Given the description of an element on the screen output the (x, y) to click on. 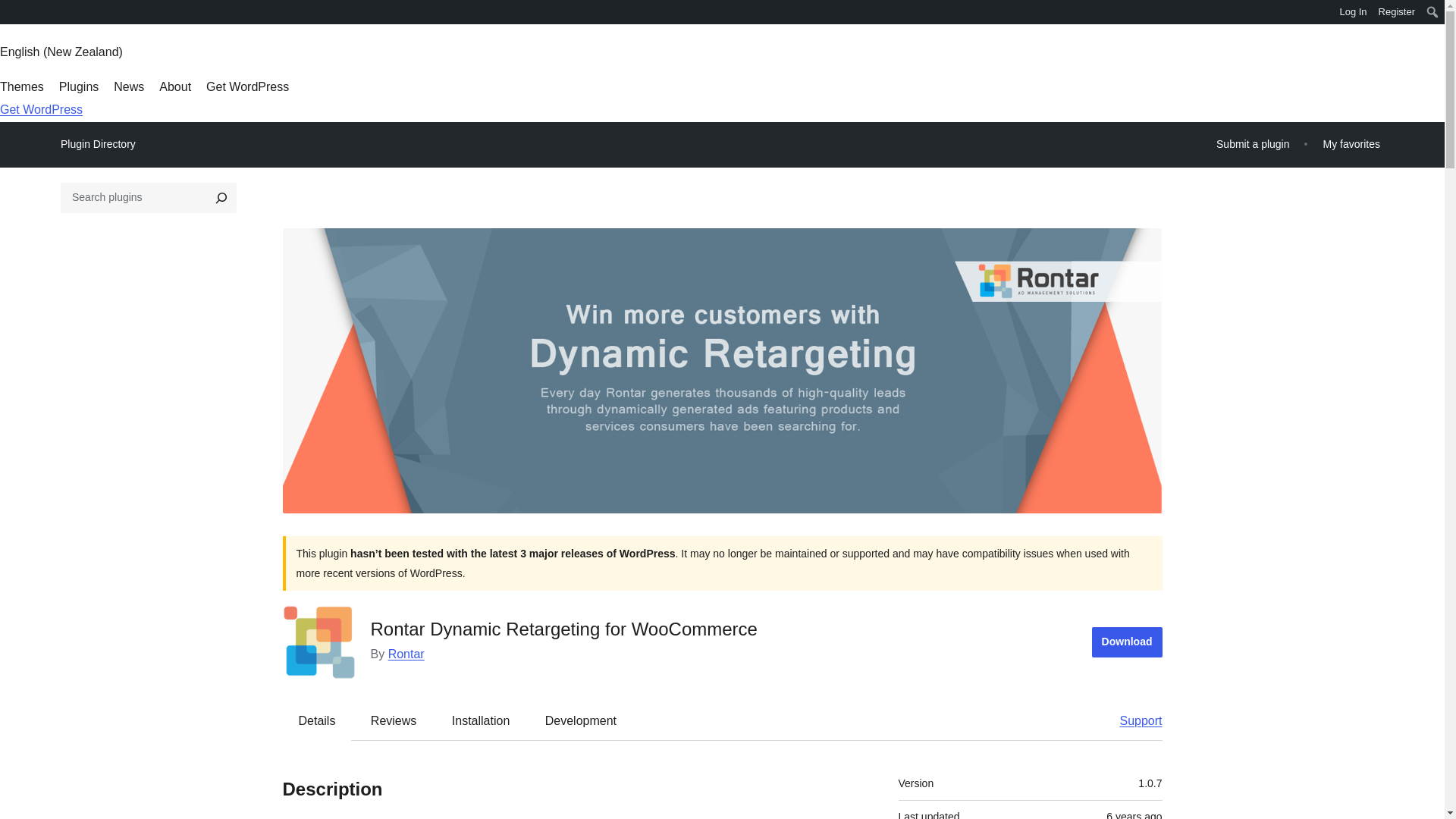
Details (316, 720)
Installation (480, 720)
About (174, 87)
My favorites (1351, 144)
Plugin Directory (97, 143)
Themes (21, 87)
Plugins (79, 87)
Search (16, 13)
Get WordPress (247, 87)
Submit a plugin (1253, 144)
Register (1397, 12)
Rontar (406, 653)
Log In (1353, 12)
Get WordPress (41, 109)
Support (1132, 720)
